Given the description of an element on the screen output the (x, y) to click on. 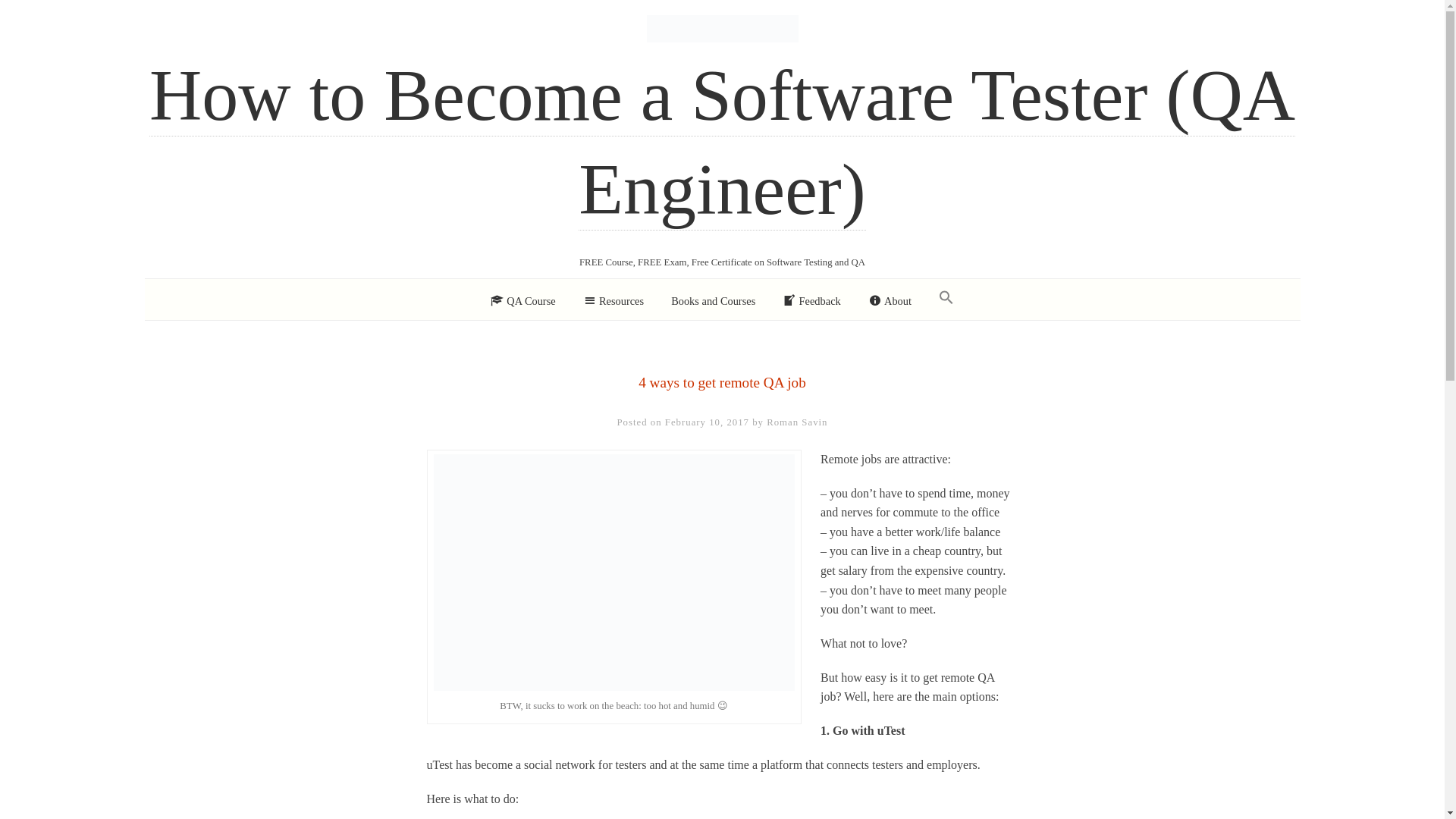
QA Course (523, 301)
